Given the description of an element on the screen output the (x, y) to click on. 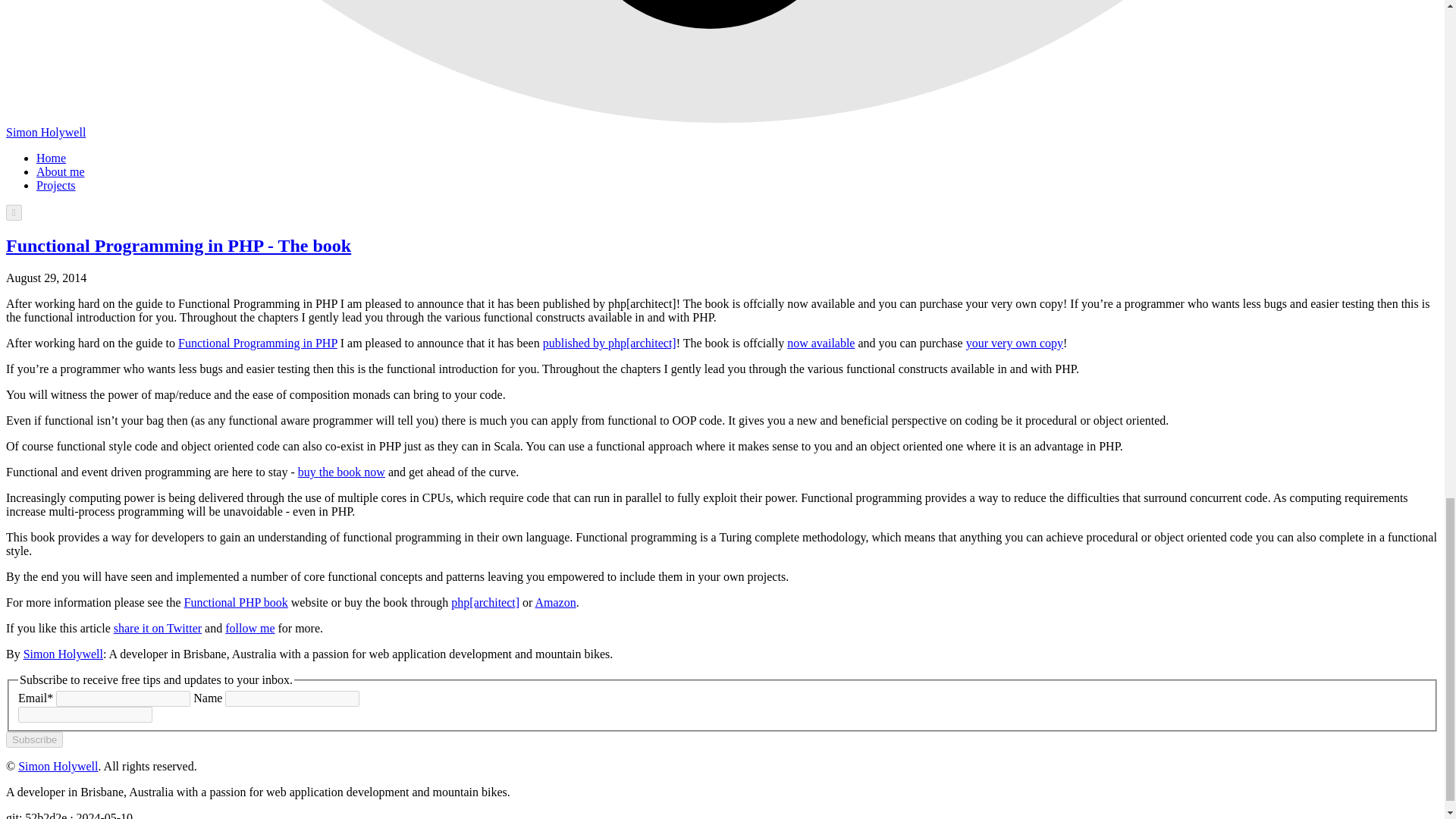
now available (820, 342)
Functional PHP book (236, 602)
Simon Holywell (63, 653)
Amazon (555, 602)
Toggle between the light and dark themes of this site (13, 212)
Simon Holywell (45, 132)
View author biography (63, 653)
share it on Twitter (157, 627)
your very own copy (1014, 342)
Functional Programming in PHP - The book (177, 245)
